Given the description of an element on the screen output the (x, y) to click on. 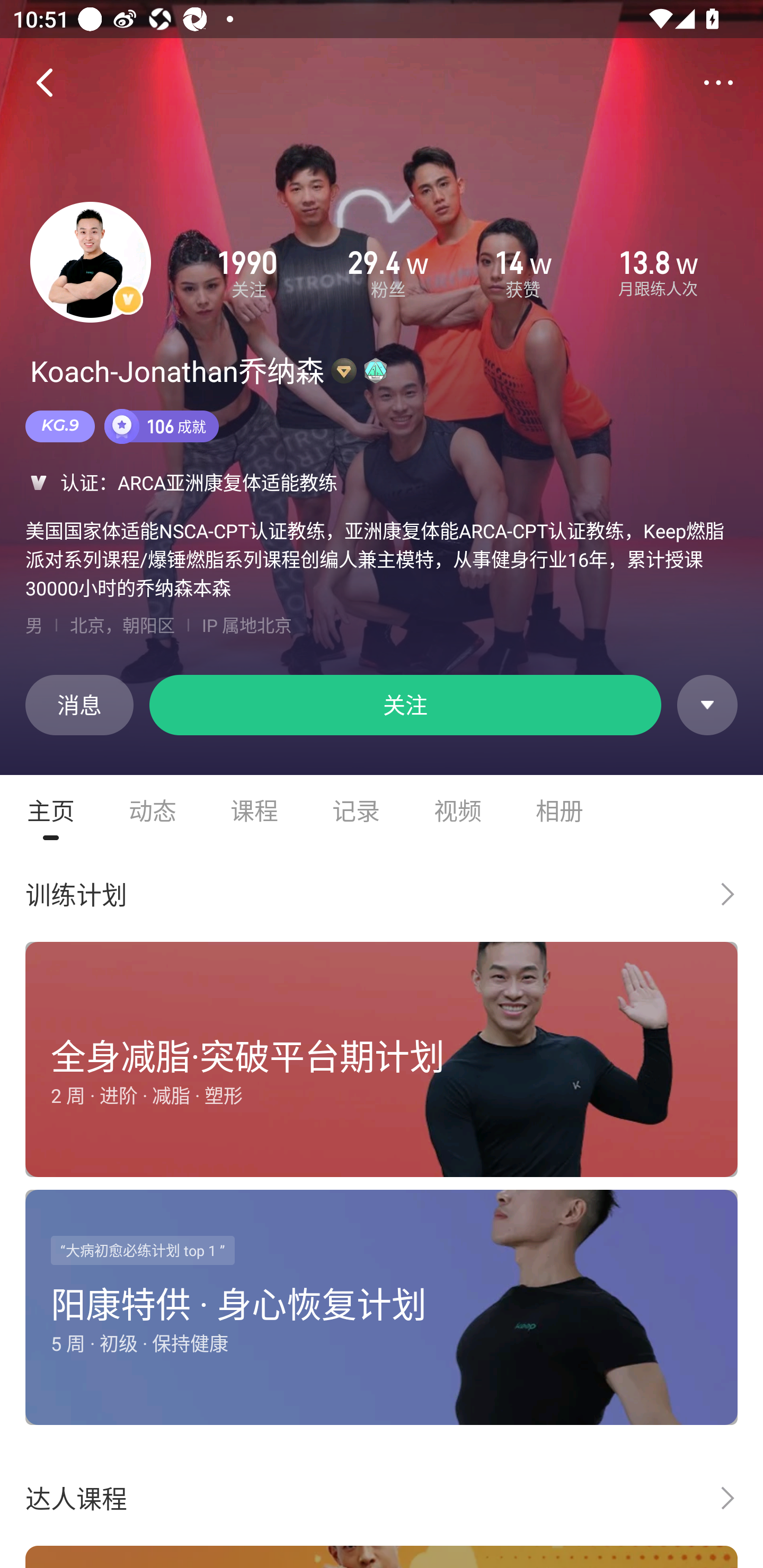
106 成就 (161, 426)
认证： ARCA亚洲康复体适能教练 (381, 481)
消息 (79, 704)
关注 (405, 704)
主页 (50, 810)
动态 (152, 810)
课程 (254, 810)
记录 (355, 810)
视频 (457, 810)
相册 (559, 810)
训练计划 更多 (381, 894)
全身减脂·突破平台期计划 2 周 · 进阶 · 减脂 · 塑形 (381, 1062)
“大病初愈必练计划 top 1 ” 阳康特供 · 身心恢复计划 5 周 · 初级 · 保持健康 (381, 1310)
达人课程 更多 (381, 1498)
